Given the description of an element on the screen output the (x, y) to click on. 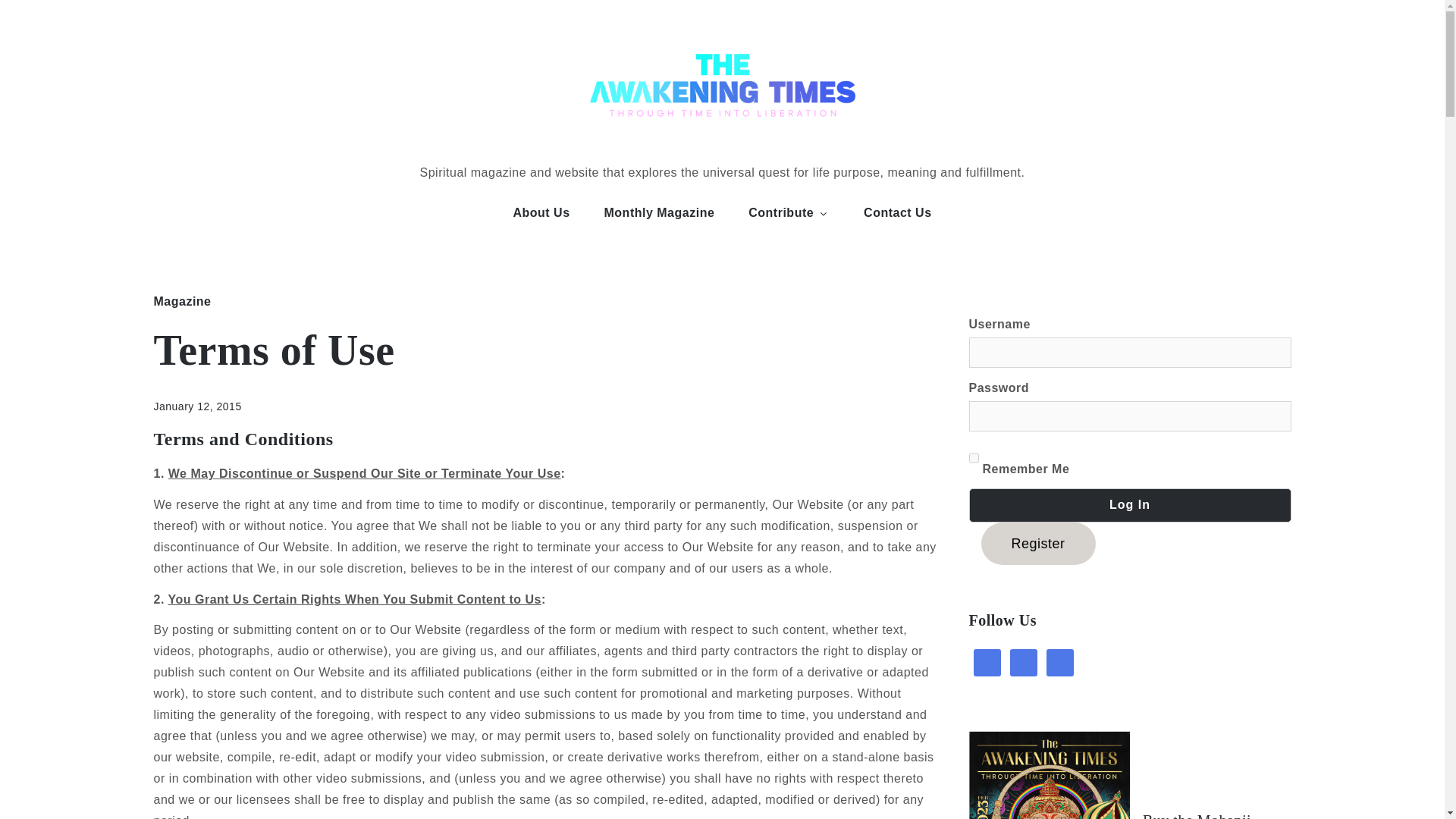
January 12, 2015 (196, 406)
Contribute (788, 213)
Monthly Magazine (659, 213)
Get in Touch (897, 213)
Log In (1130, 505)
Log In (1130, 505)
Write for The Awakening Times (788, 213)
Buy the Mohanji Specisal Birthday Edition Illustrated PDF (1200, 815)
Magazine (181, 300)
What we Do (541, 213)
